Given the description of an element on the screen output the (x, y) to click on. 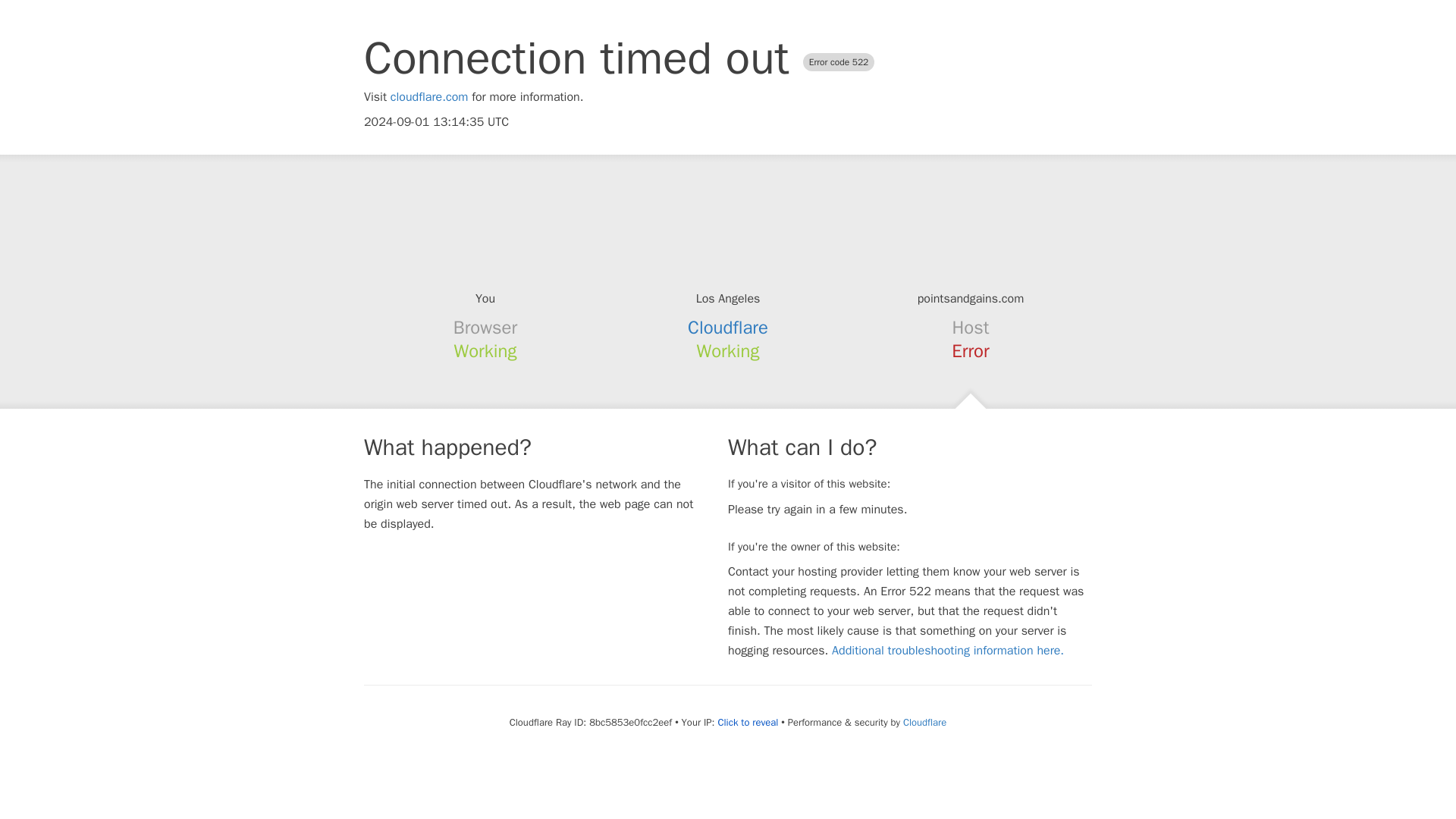
Cloudflare (924, 721)
Cloudflare (727, 327)
Click to reveal (747, 722)
cloudflare.com (429, 96)
Additional troubleshooting information here. (947, 650)
